Given the description of an element on the screen output the (x, y) to click on. 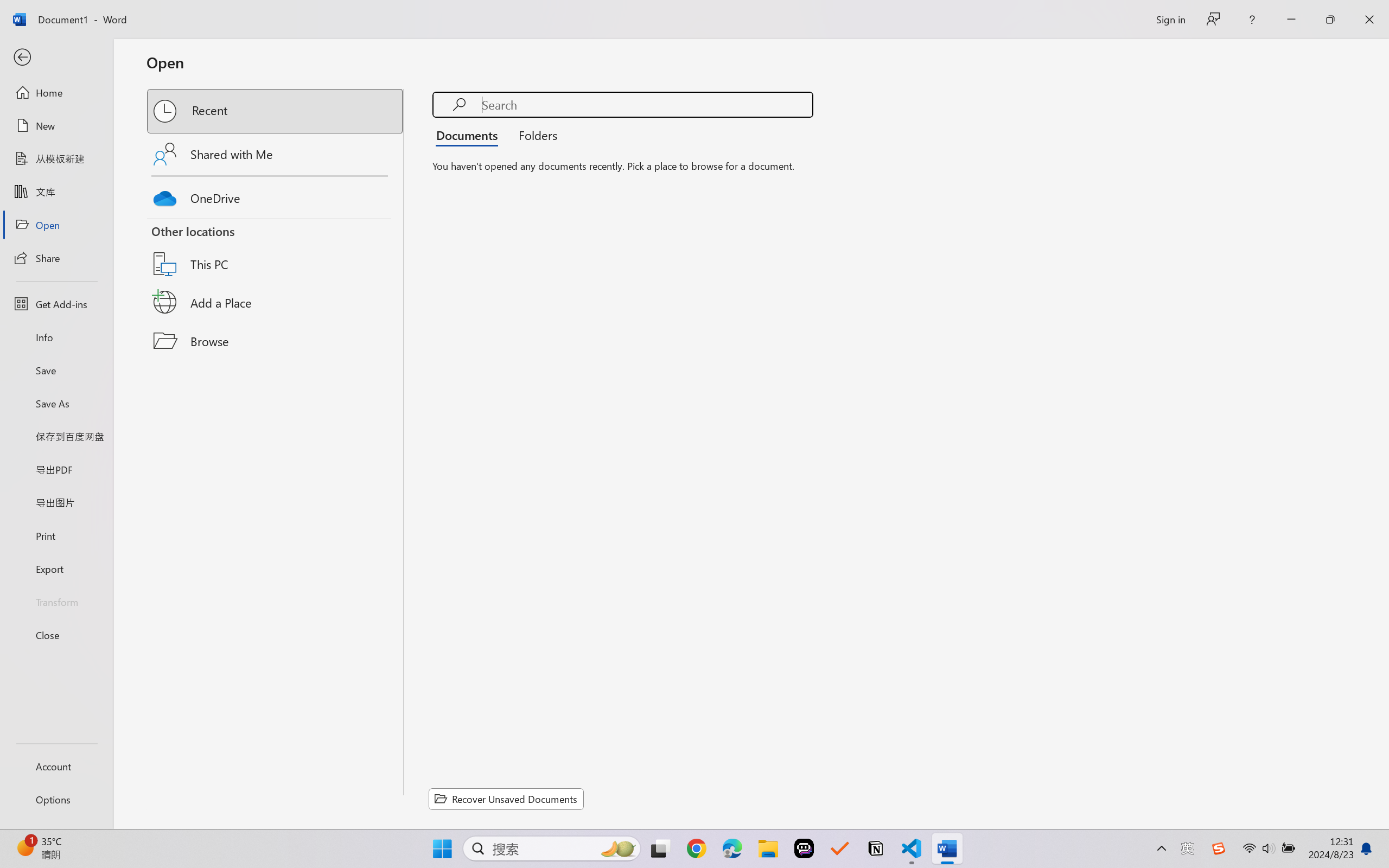
Recover Unsaved Documents (506, 798)
New (56, 125)
Account (56, 765)
Shared with Me (275, 153)
Back (56, 57)
Transform (56, 601)
Recent (275, 110)
